Given the description of an element on the screen output the (x, y) to click on. 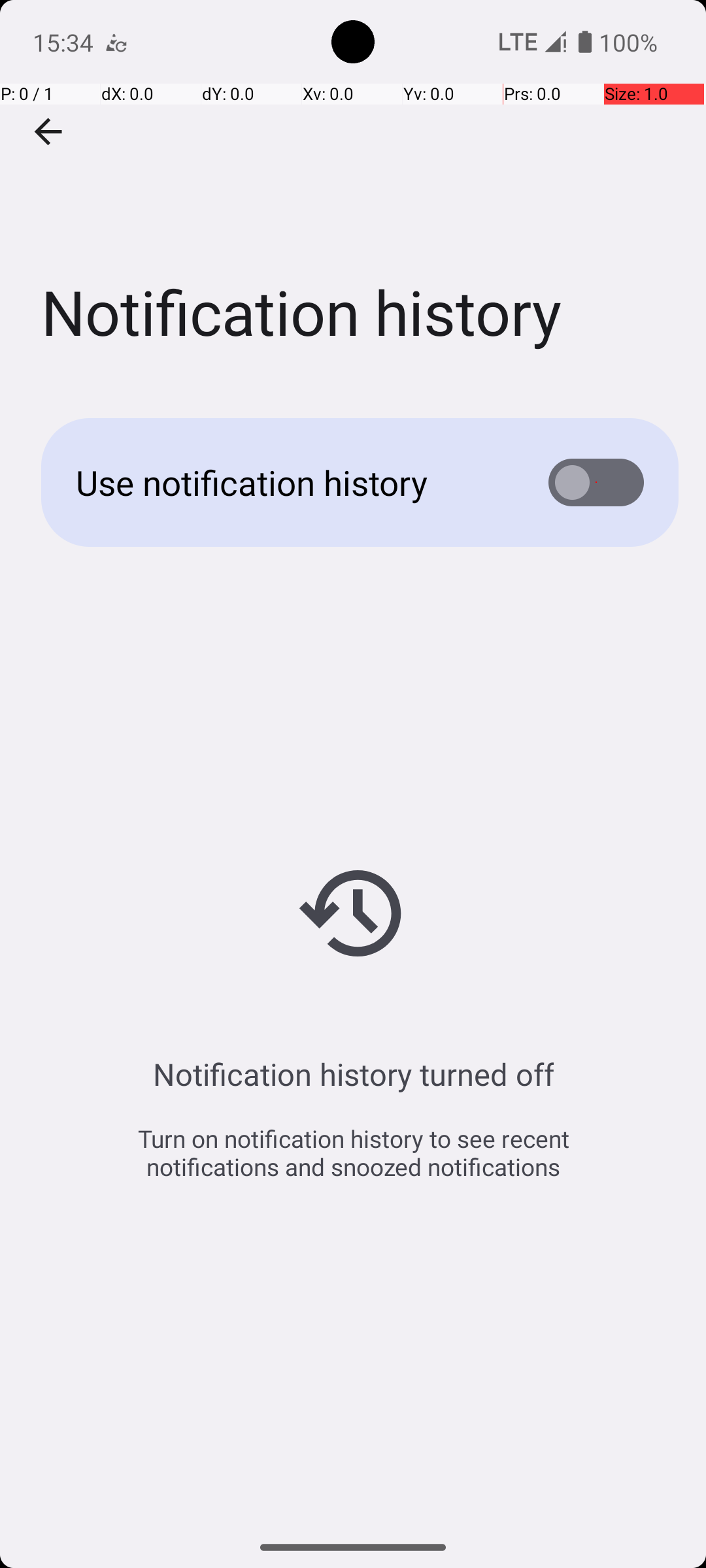
Notification history turned off Element type: android.widget.TextView (352, 1073)
Turn on notification history to see recent notifications and snoozed notifications Element type: android.widget.TextView (352, 1152)
